Given the description of an element on the screen output the (x, y) to click on. 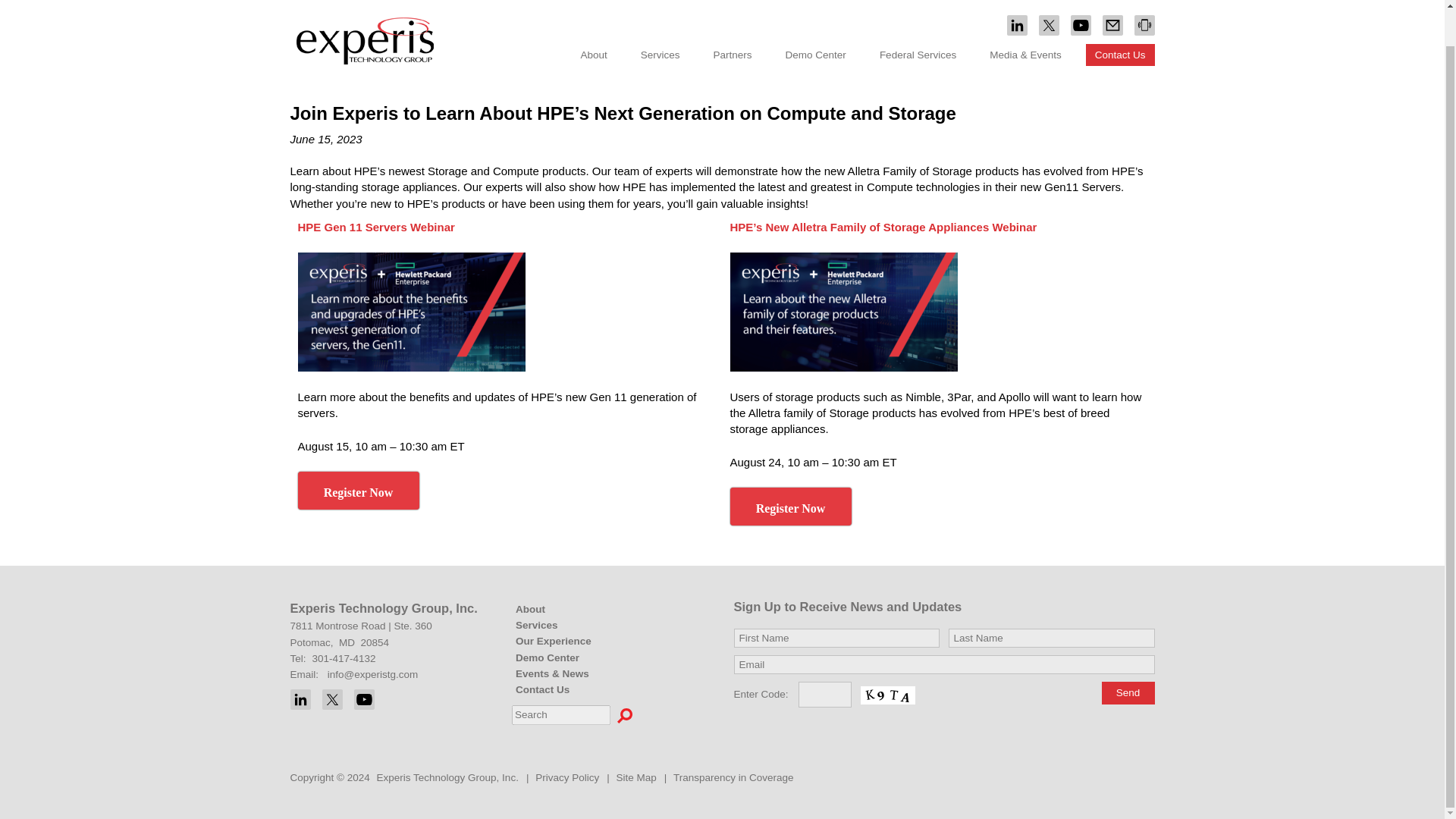
Partners (732, 17)
Services (659, 17)
X (331, 699)
About (564, 609)
Demo Center (816, 17)
Register Now (358, 490)
301-417-4132 (344, 658)
LinkedIn (299, 699)
Federal Services (917, 17)
About (593, 17)
Search (624, 715)
YouTube (363, 699)
HPE Gen 11 Servers Webinar (375, 226)
Send (1127, 692)
Contact Us (1120, 17)
